Given the description of an element on the screen output the (x, y) to click on. 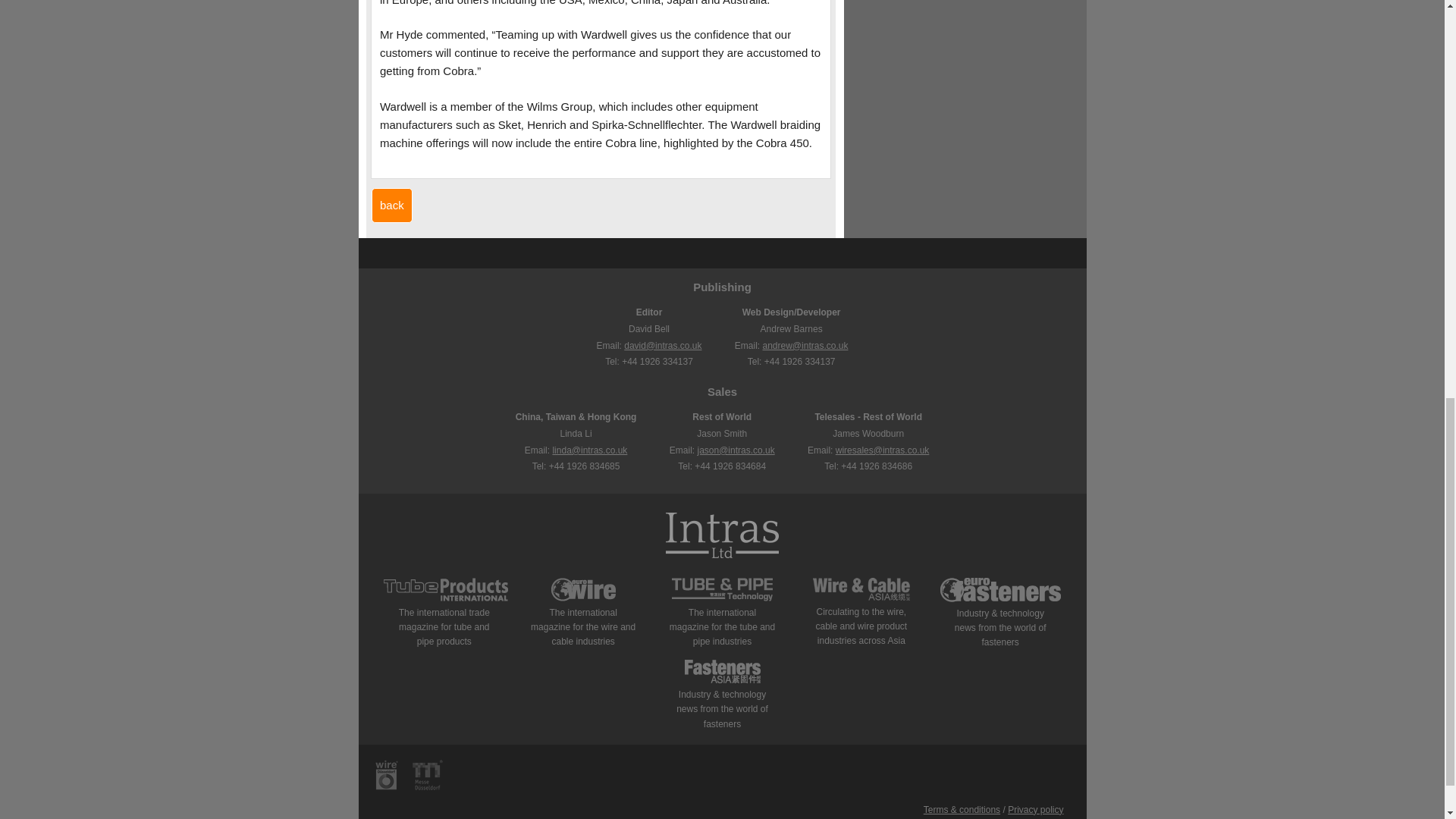
back (391, 205)
TPI website (446, 597)
Intras website (721, 537)
TPT website (722, 597)
WCA website (861, 597)
Fasteners Asia website (722, 679)
Euro Fasteners website (1000, 598)
EuroWire website (583, 597)
